Given the description of an element on the screen output the (x, y) to click on. 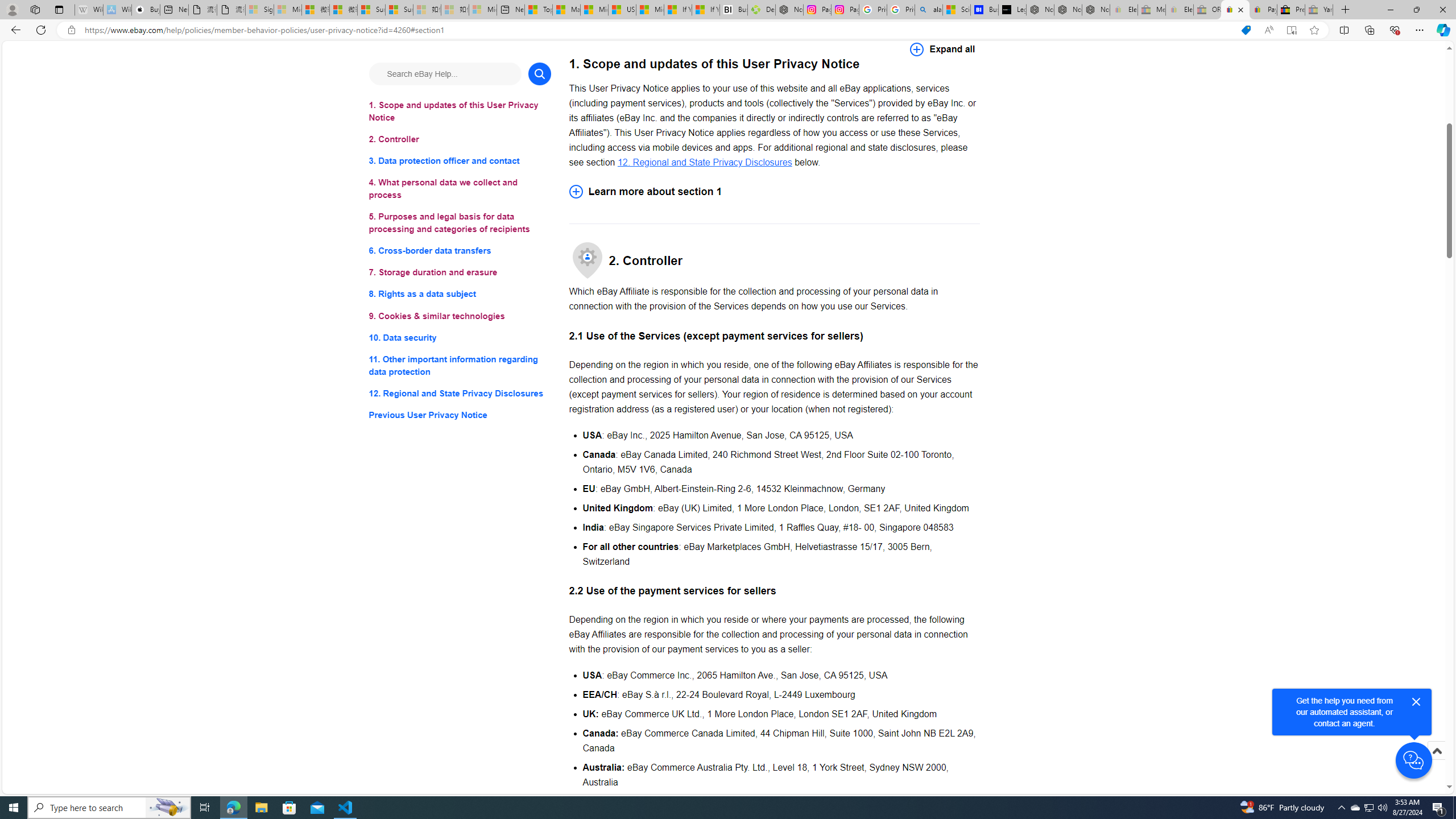
7. Storage duration and erasure (459, 272)
3. Data protection officer and contact (459, 160)
11. Other important information regarding data protection (459, 365)
